Given the description of an element on the screen output the (x, y) to click on. 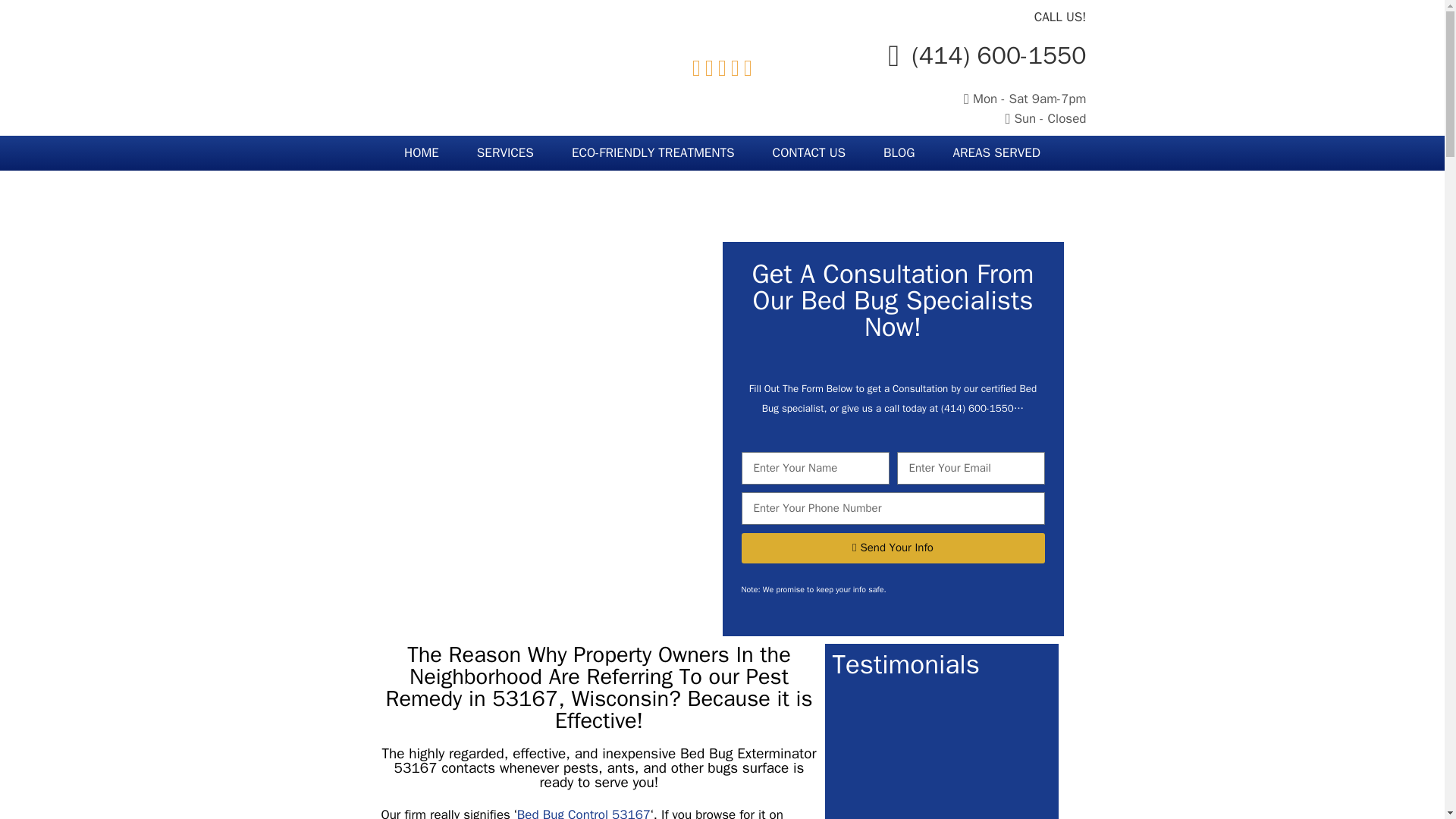
CONTACT US (809, 152)
SERVICES (505, 152)
AREAS SERVED (996, 152)
HOME (421, 152)
ECO-FRIENDLY TREATMENTS (653, 152)
BLOG (898, 152)
